Given the description of an element on the screen output the (x, y) to click on. 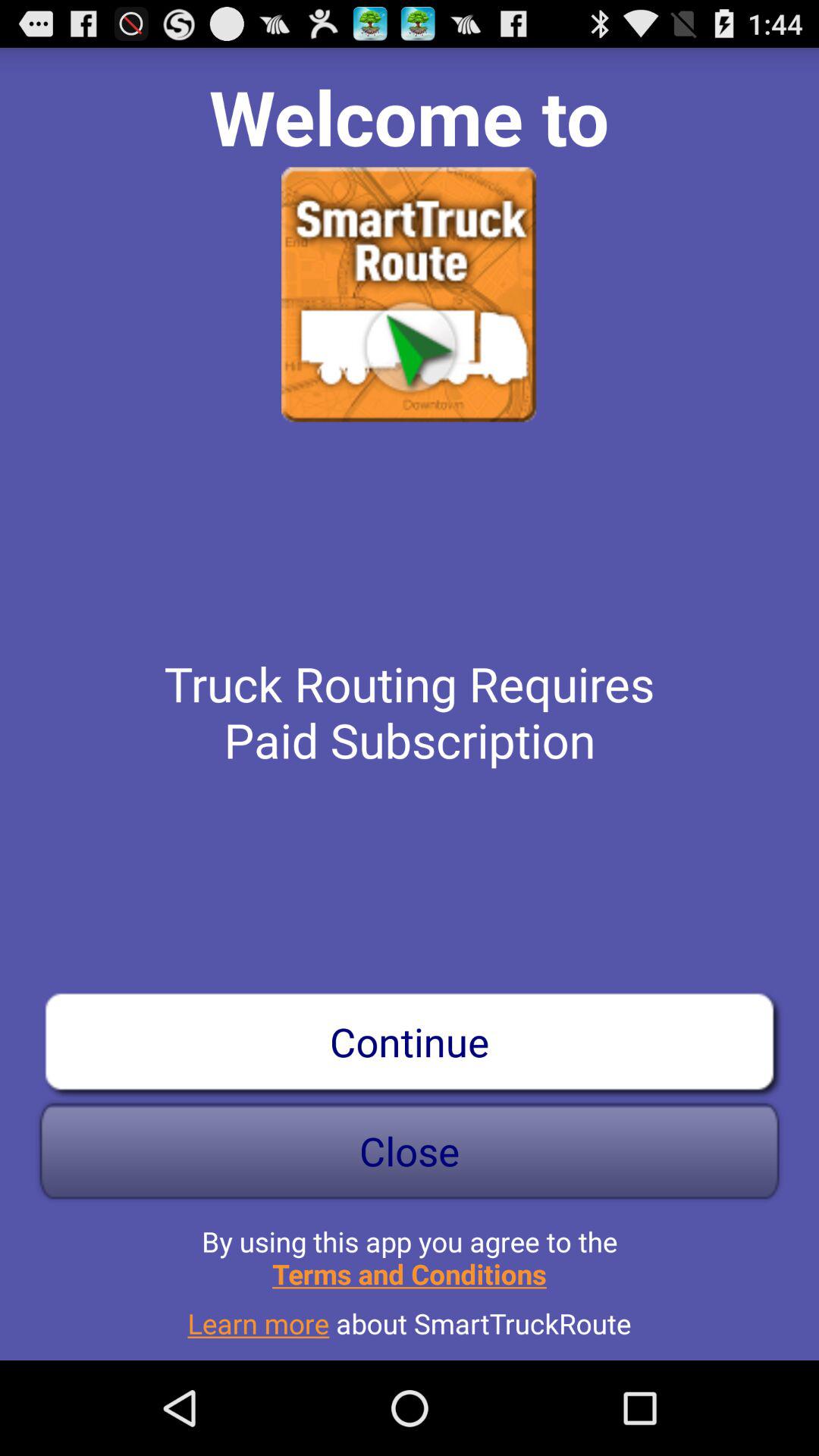
swipe until the close icon (409, 1150)
